Given the description of an element on the screen output the (x, y) to click on. 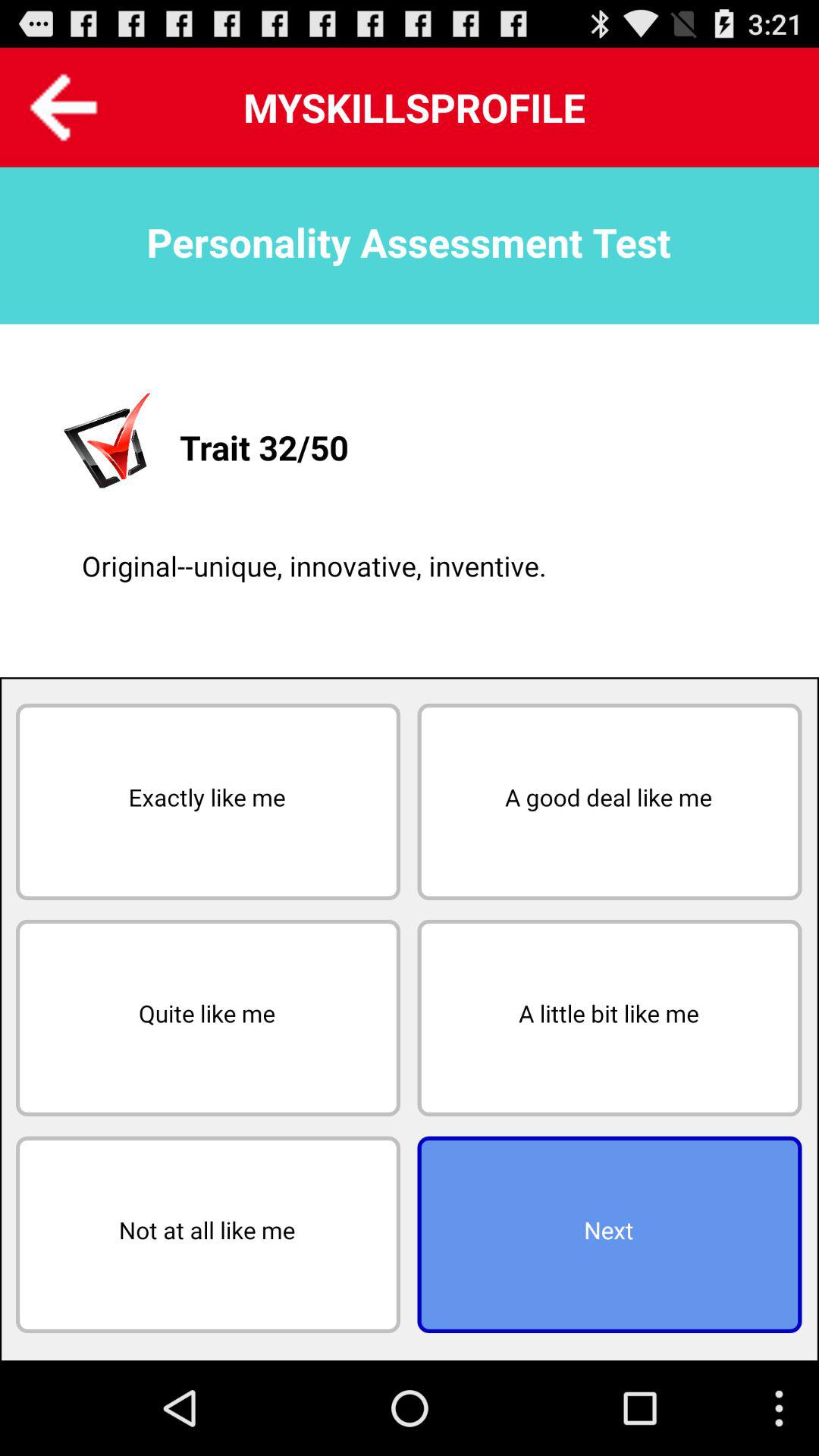
select the a good deal on the right (609, 801)
